Given the description of an element on the screen output the (x, y) to click on. 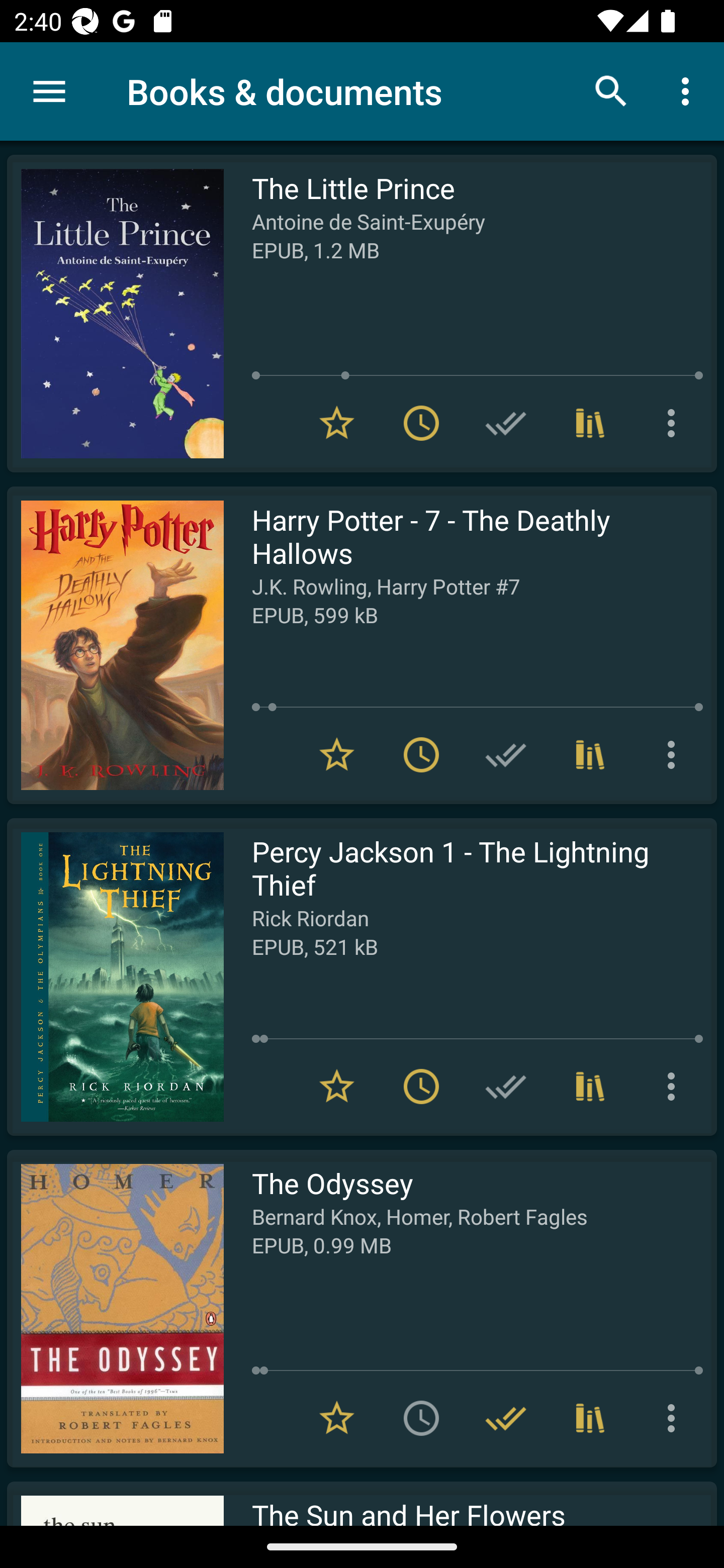
Menu (49, 91)
Search books & documents (611, 90)
More options (688, 90)
Read The Little Prince (115, 313)
Remove from Favorites (336, 423)
Remove from To read (421, 423)
Add to Have read (505, 423)
Collections (1) (590, 423)
More options (674, 423)
Read Harry Potter - 7 - The Deathly Hallows (115, 645)
Remove from Favorites (336, 753)
Remove from To read (421, 753)
Add to Have read (505, 753)
Collections (3) (590, 753)
More options (674, 753)
Read Percy Jackson 1 - The Lightning Thief (115, 976)
Remove from Favorites (336, 1086)
Remove from To read (421, 1086)
Add to Have read (505, 1086)
Collections (1) (590, 1086)
More options (674, 1086)
Read The Odyssey (115, 1308)
Remove from Favorites (336, 1417)
Add to To read (421, 1417)
Remove from Have read (505, 1417)
Collections (3) (590, 1417)
More options (674, 1417)
